Given the description of an element on the screen output the (x, y) to click on. 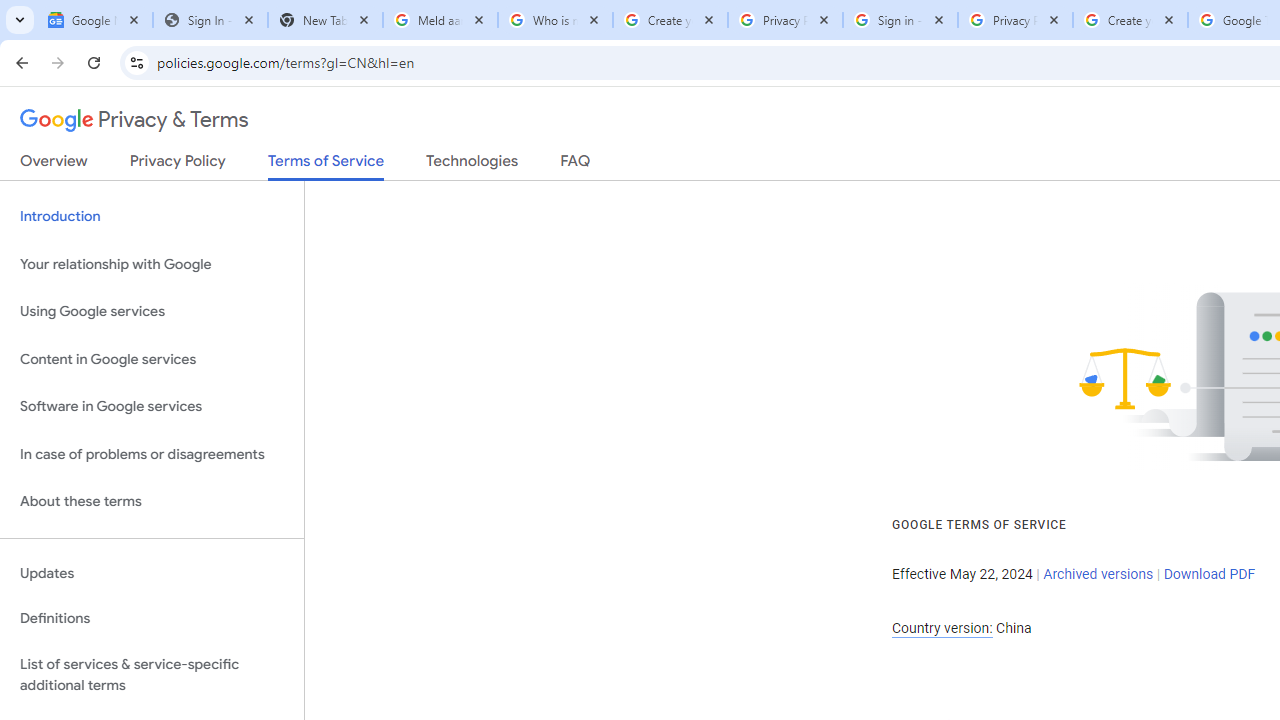
About these terms (152, 502)
Your relationship with Google (152, 263)
Introduction (152, 216)
Sign In - USA TODAY (209, 20)
Create your Google Account (1129, 20)
Who is my administrator? - Google Account Help (555, 20)
Software in Google services (152, 407)
Definitions (152, 619)
In case of problems or disagreements (152, 453)
Download PDF (1209, 574)
